Given the description of an element on the screen output the (x, y) to click on. 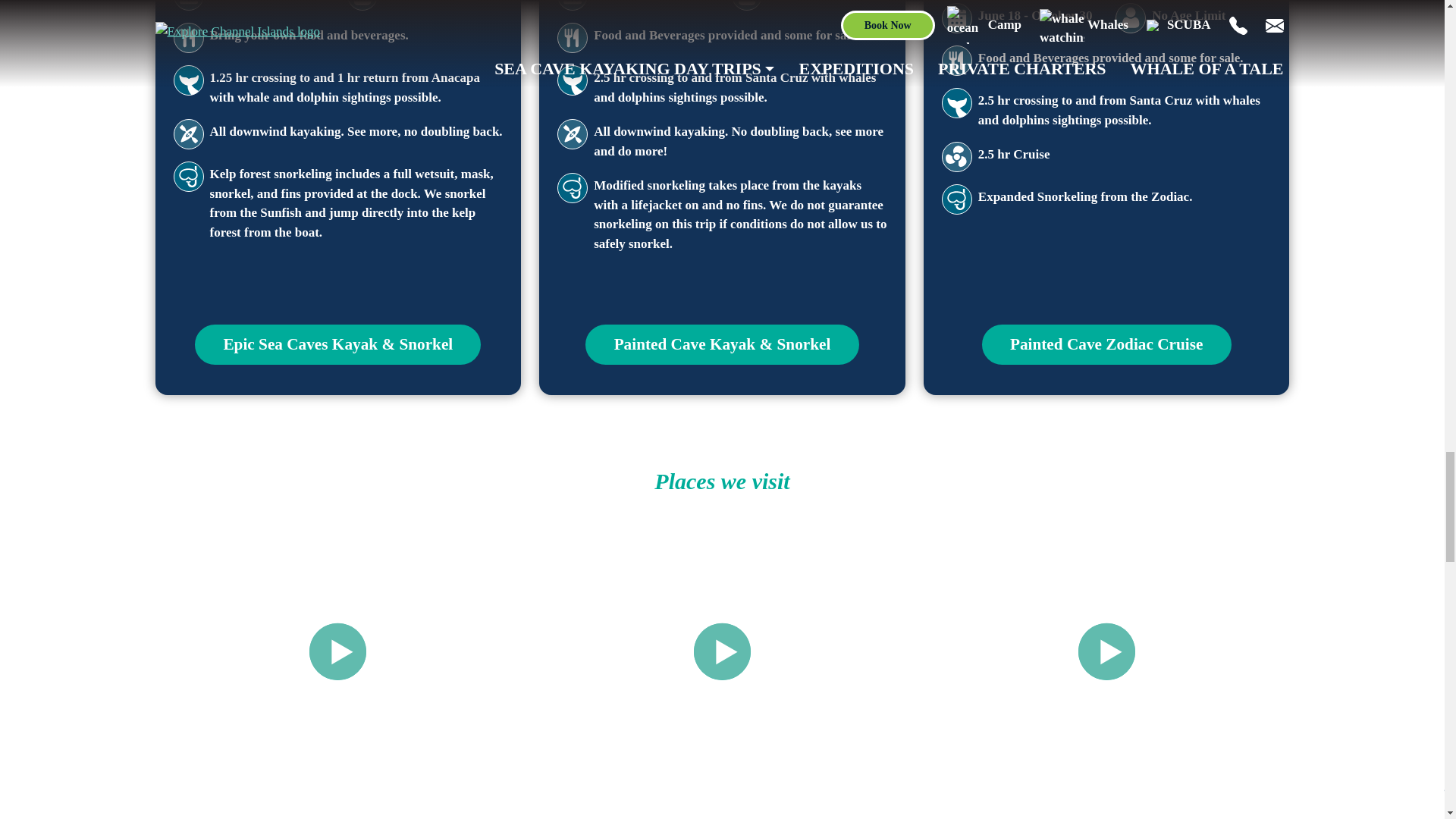
Play Video (1106, 651)
Play Video (722, 651)
Painted Cave Zodiac Cruise (1106, 344)
Play Video (337, 651)
